Given the description of an element on the screen output the (x, y) to click on. 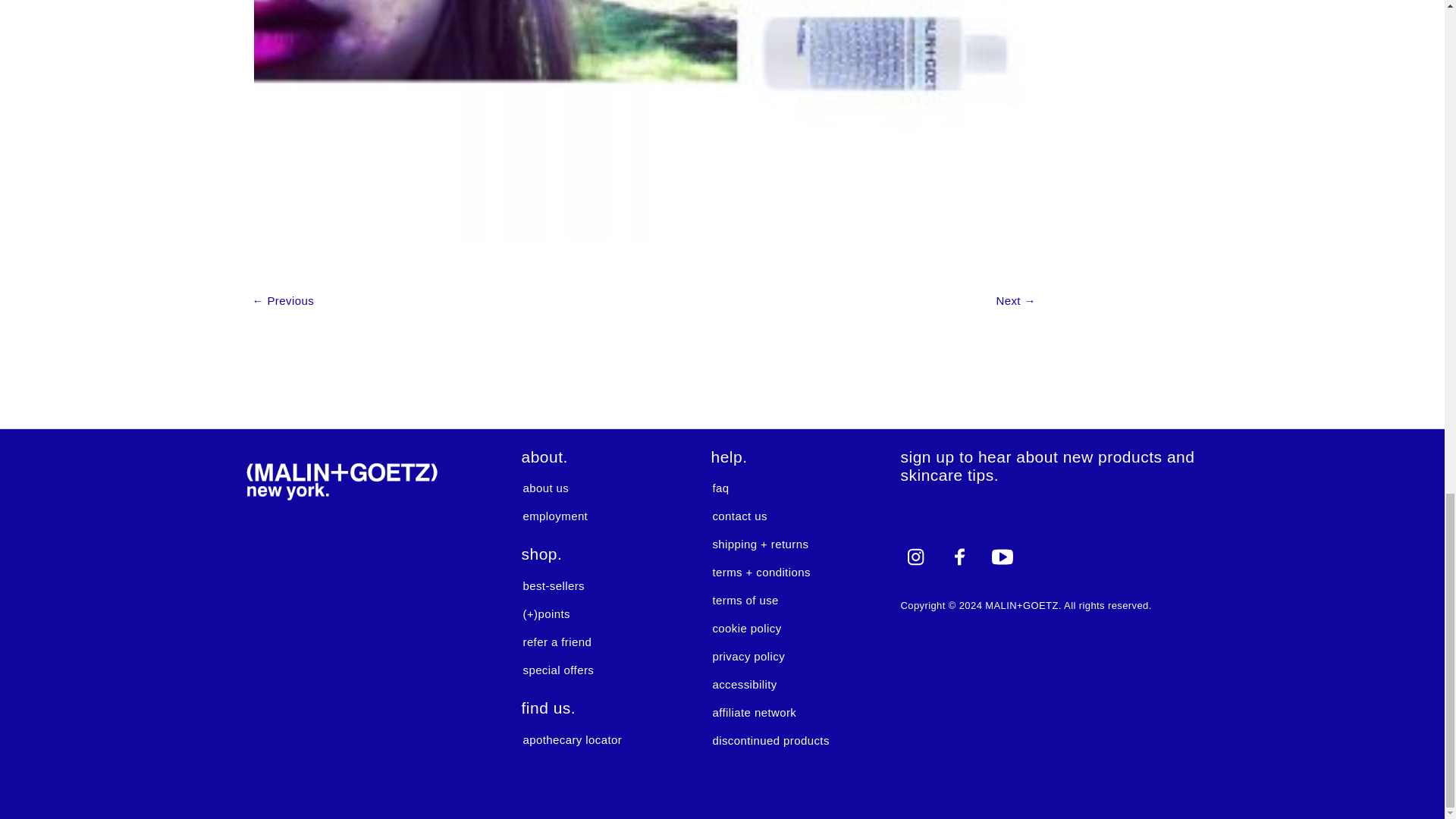
Read Chicagoetz. (282, 300)
Read DOMA Attorney Event. (1015, 300)
